Given the description of an element on the screen output the (x, y) to click on. 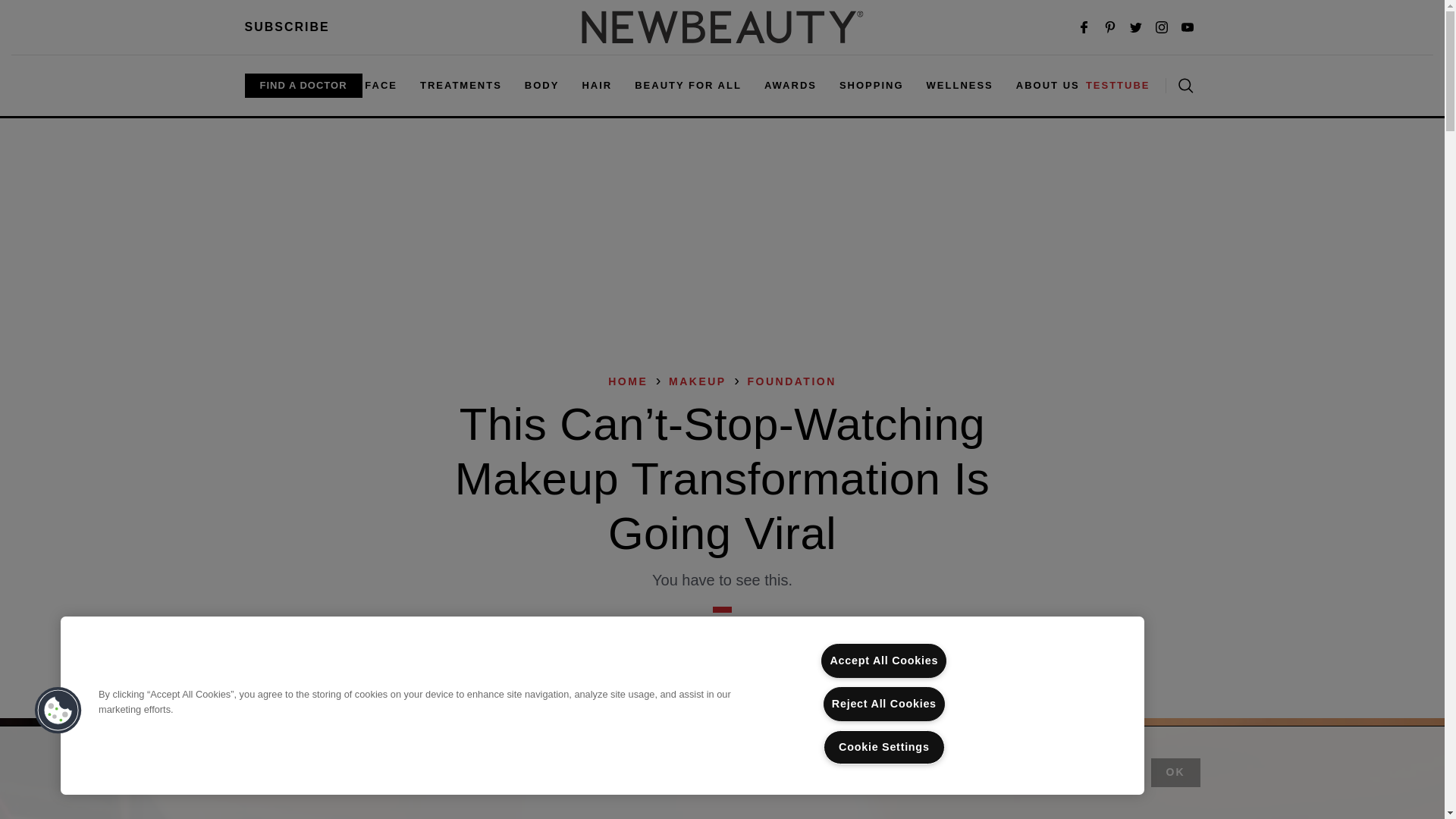
TREATMENTS (461, 85)
Cookies Button (57, 710)
Instagram (1161, 27)
Pinterest (1109, 27)
BODY (541, 85)
Twitter (1135, 27)
FIND A DOCTOR (302, 85)
SUBSCRIBE (286, 27)
Facebook (1084, 27)
Youtube (1186, 27)
NewBeauty (722, 26)
FACE (381, 85)
